Given the description of an element on the screen output the (x, y) to click on. 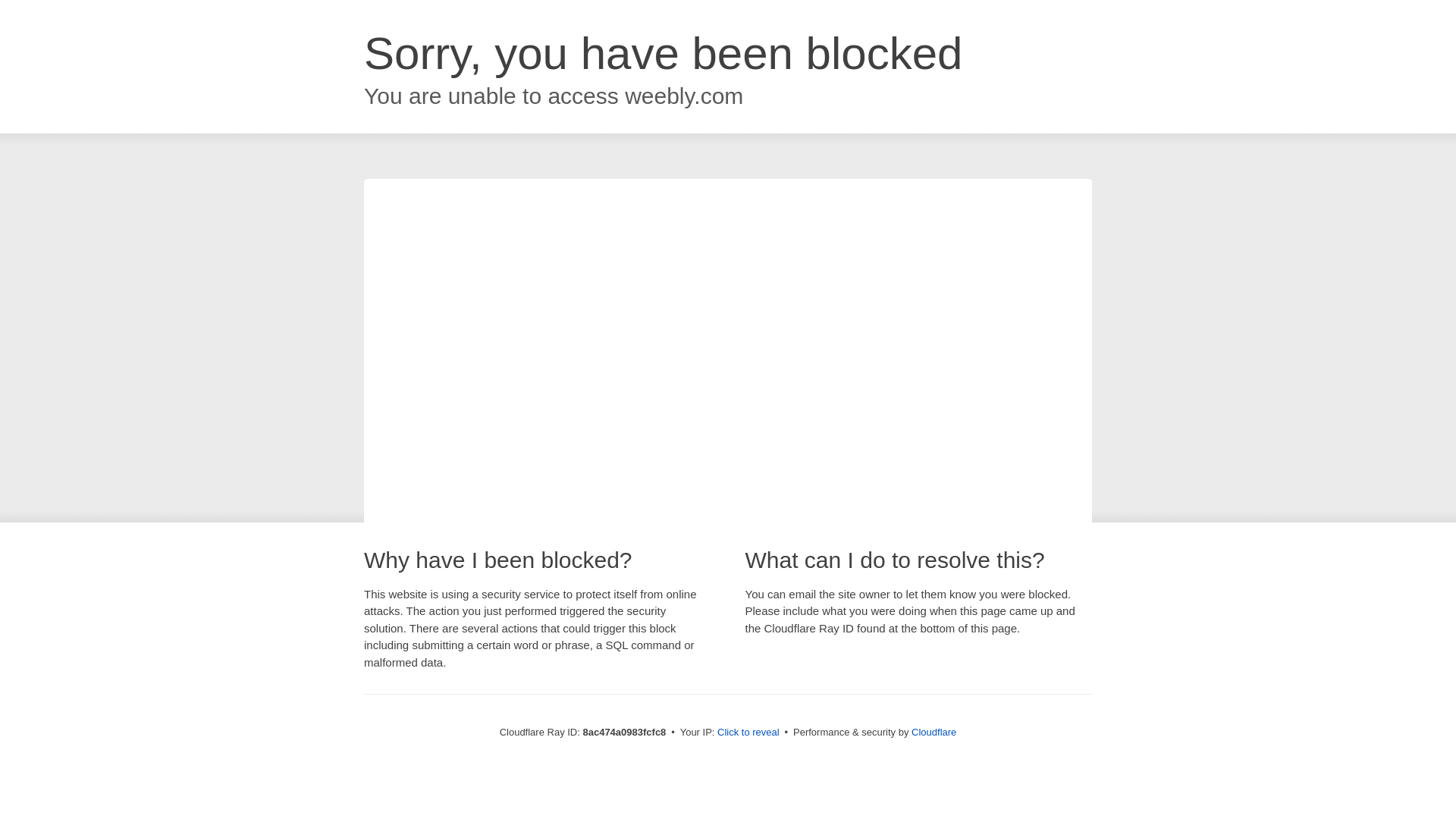
Click to reveal (747, 732)
Cloudflare (933, 731)
